Given the description of an element on the screen output the (x, y) to click on. 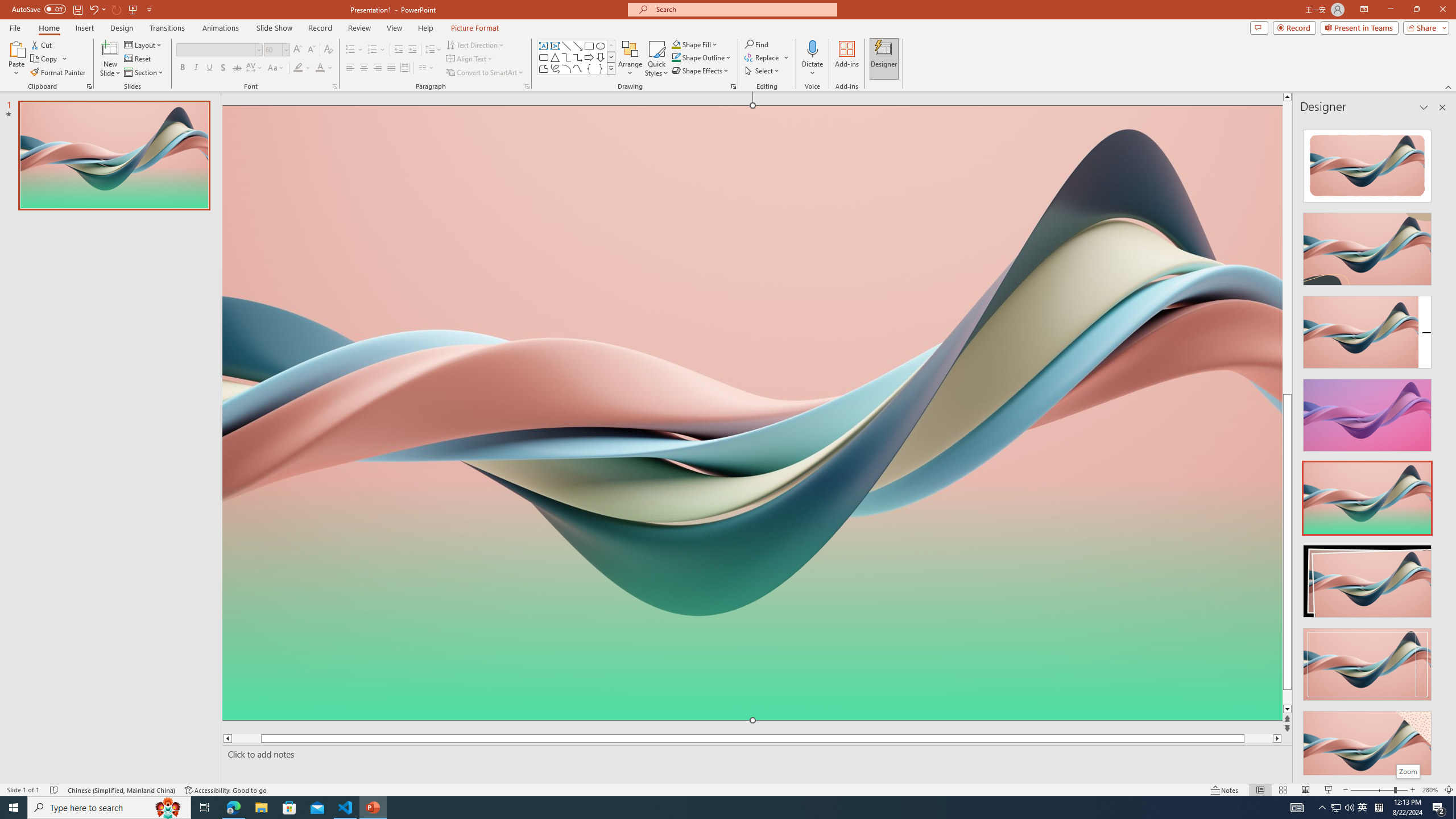
Zoom 280% (1430, 790)
